Given the description of an element on the screen output the (x, y) to click on. 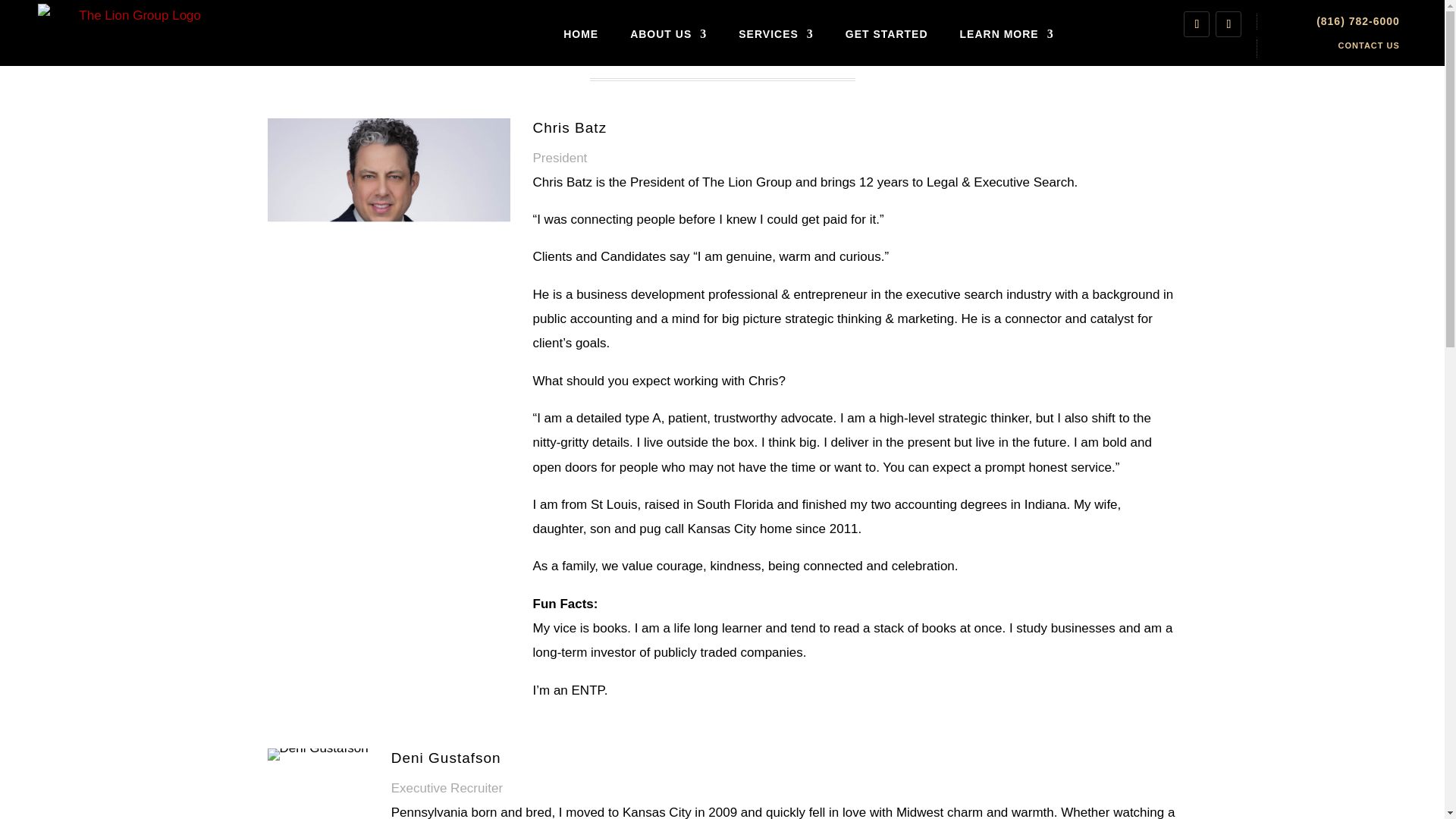
SERVICES (775, 34)
Follow on Twitter (1228, 23)
CONTACT US (1368, 44)
Follow on LinkedIn (1196, 23)
LEARN MORE (1006, 34)
GET STARTED (886, 34)
ABOUT US (668, 34)
